Given the description of an element on the screen output the (x, y) to click on. 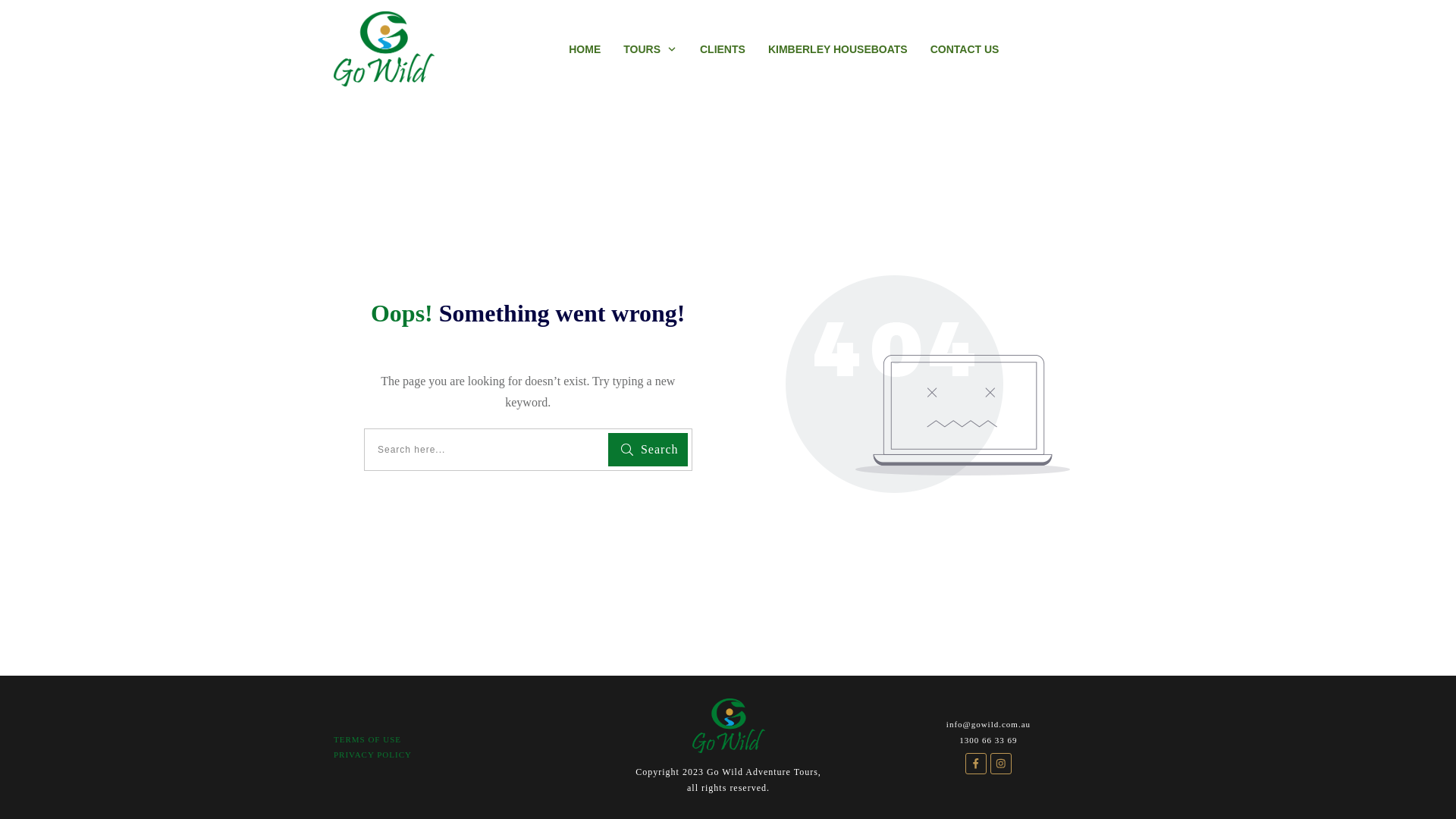
CONTACT US Element type: text (964, 48)
Search Element type: text (647, 448)
TERMS OF USE Element type: text (367, 738)
KIMBERLEY HOUSEBOATS Element type: text (837, 48)
CLIENTS Element type: text (722, 48)
HOME Element type: text (584, 48)
PRIVACY POLICY Element type: text (372, 754)
TOURS Element type: text (650, 48)
404 Element type: hover (927, 383)
